Given the description of an element on the screen output the (x, y) to click on. 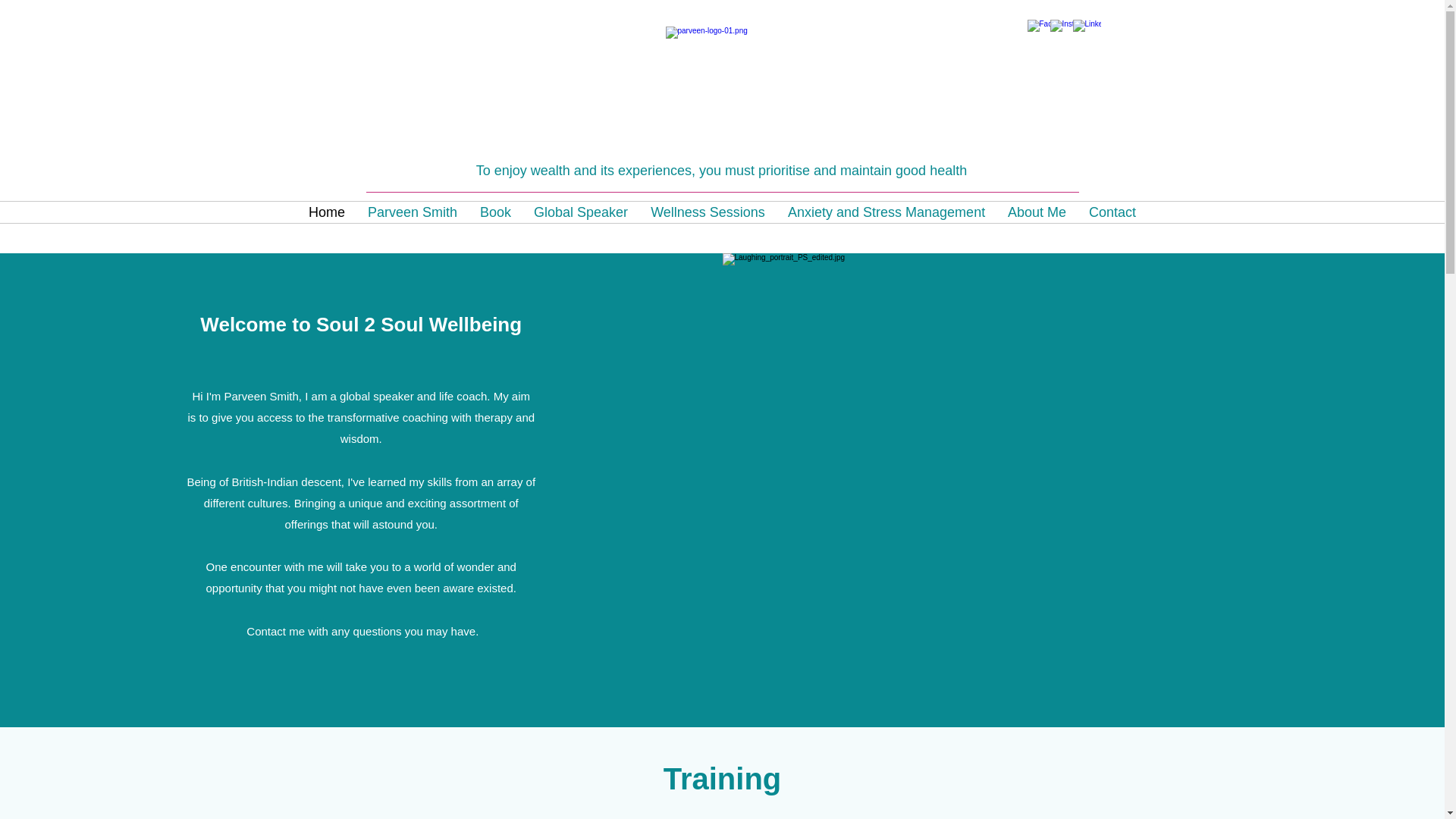
Contact (1112, 211)
Global Speaker (580, 211)
Home (326, 211)
Parveen Smith (412, 211)
Book (495, 211)
About Me (1036, 211)
Wellness Sessions (707, 211)
Anxiety and Stress Management (885, 211)
